Given the description of an element on the screen output the (x, y) to click on. 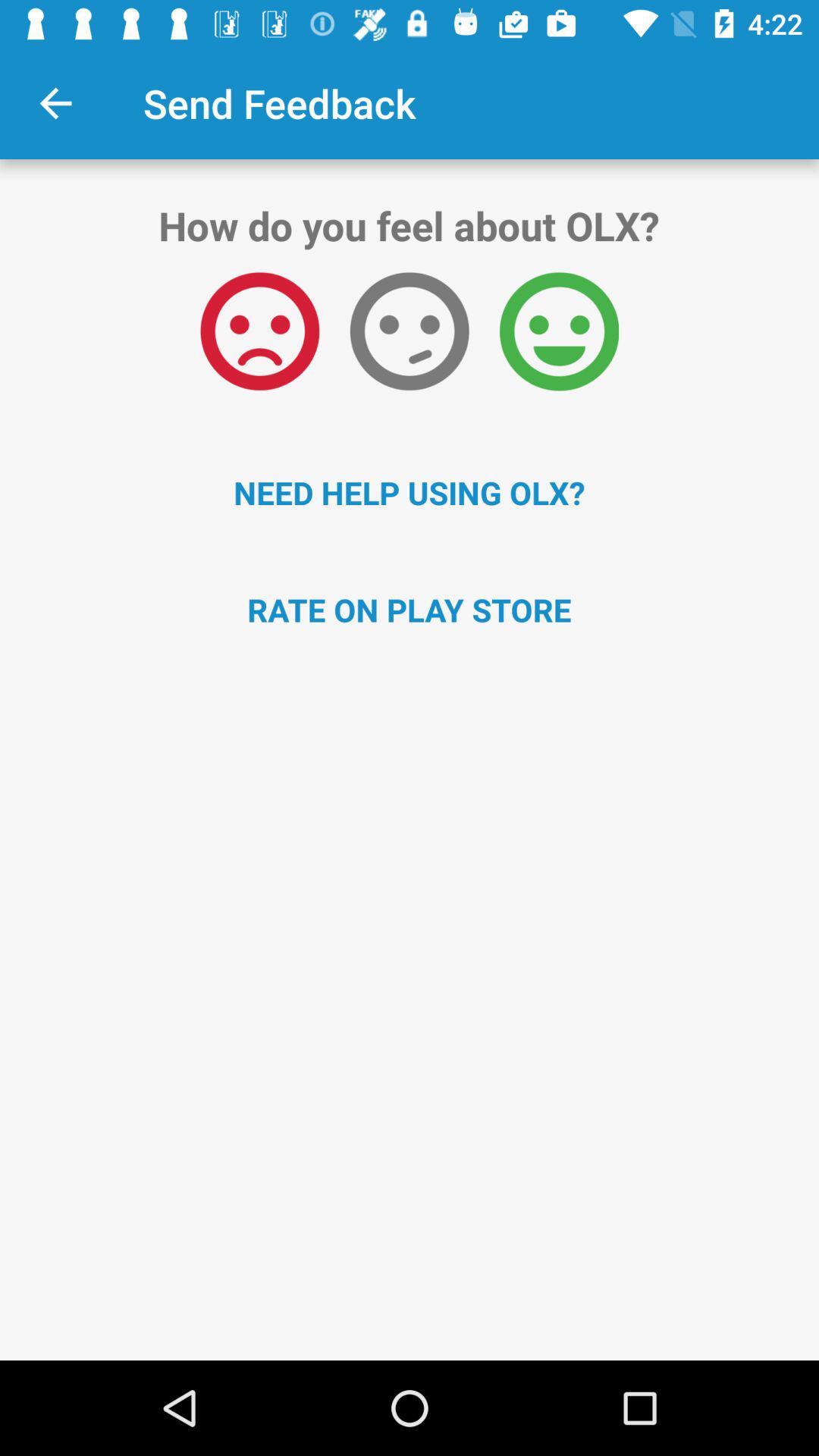
flip to need help using item (409, 492)
